Given the description of an element on the screen output the (x, y) to click on. 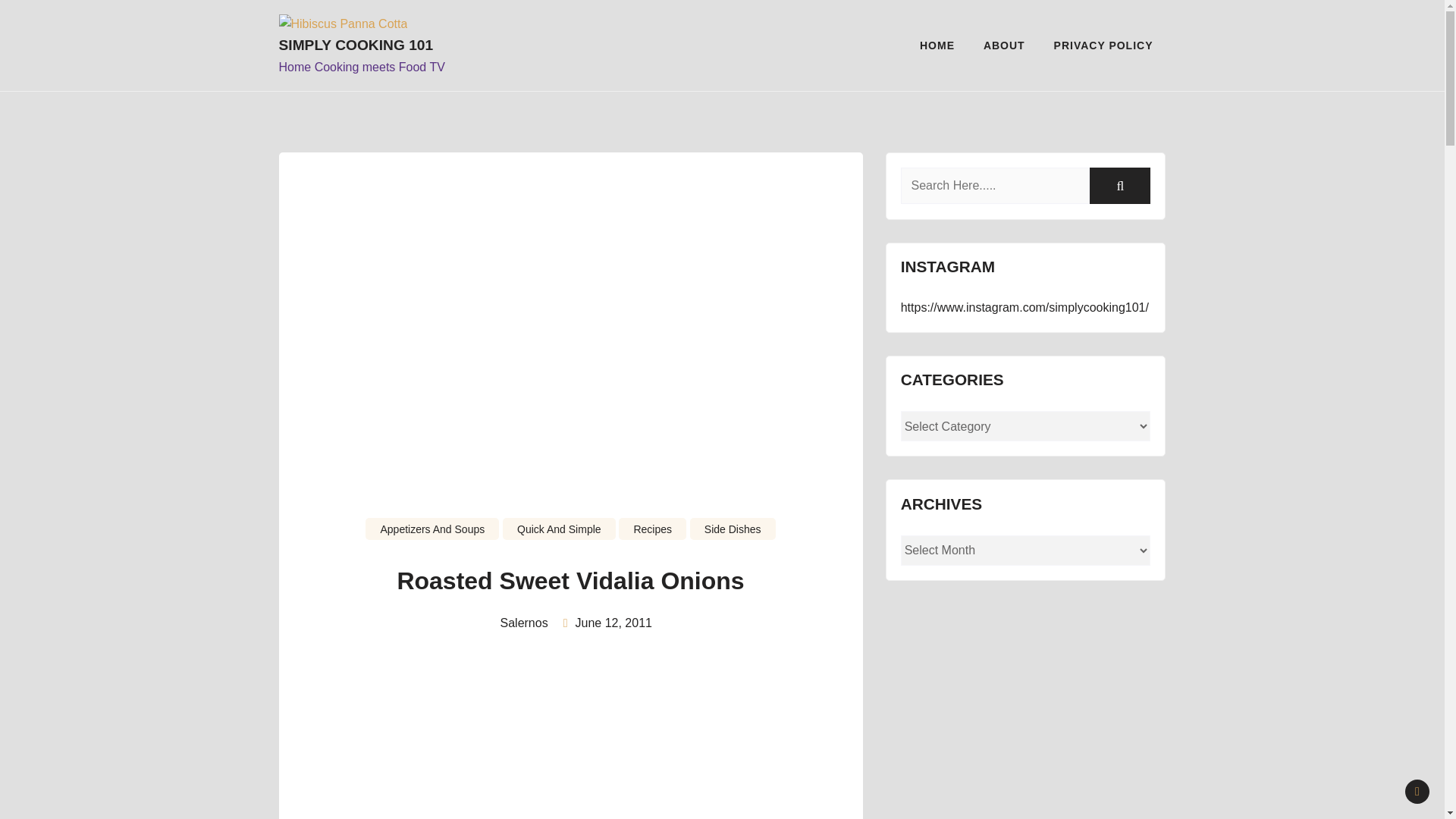
Quick And Simple (558, 528)
June 12, 2011 (613, 622)
ABOUT (1004, 45)
SIMPLY COOKING 101 (381, 45)
Salernos (518, 623)
PRIVACY POLICY (1103, 45)
Recipes (651, 528)
Side Dishes (733, 528)
HOME (937, 45)
Appetizers And Soups (432, 528)
